Given the description of an element on the screen output the (x, y) to click on. 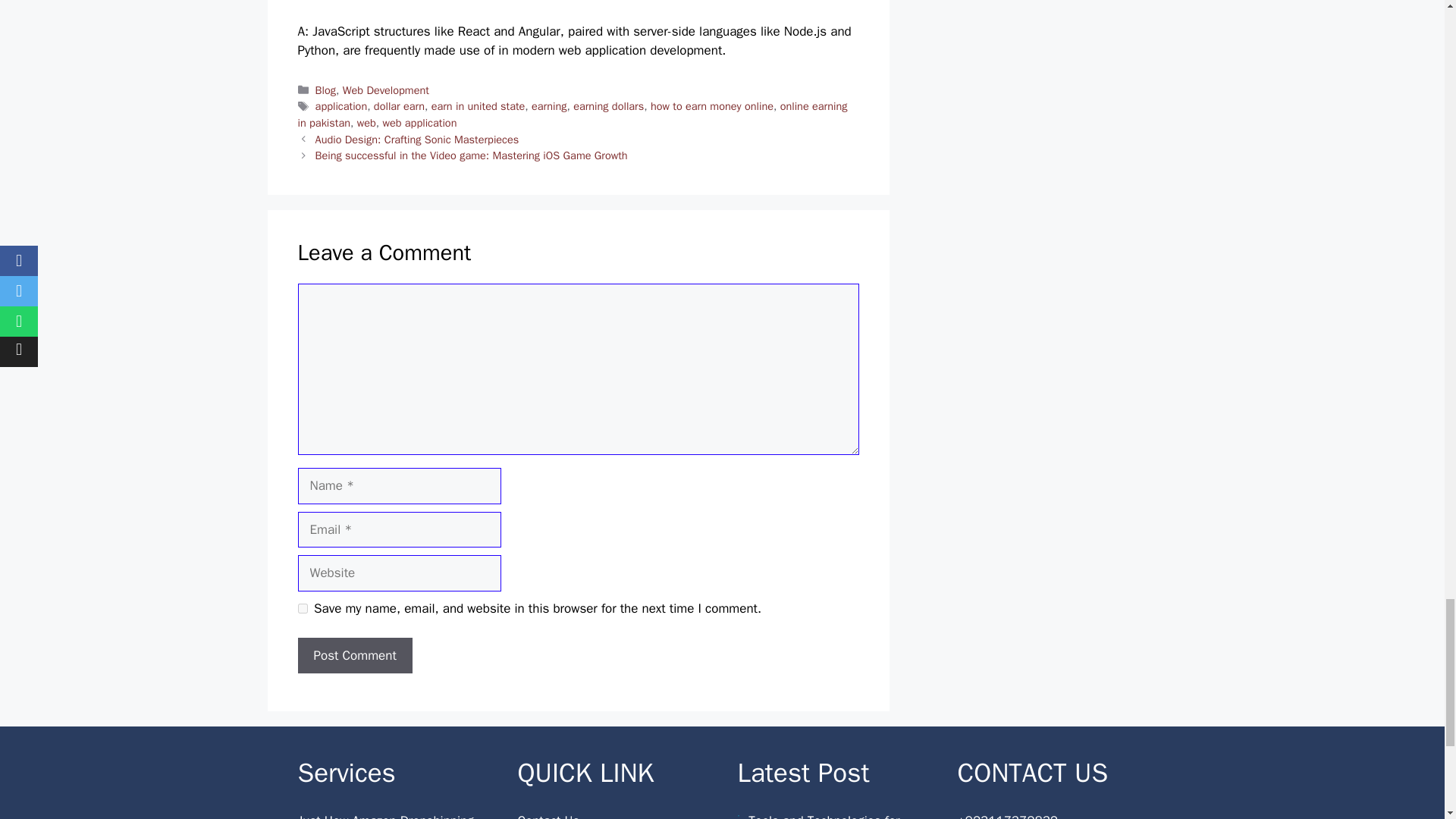
yes (302, 608)
web application (419, 122)
earning dollars (608, 106)
Blog (325, 90)
web (365, 122)
earning (548, 106)
how to earn money online (711, 106)
online earning in pakistan (572, 114)
earn in united state (477, 106)
Post Comment (354, 656)
Web Development (385, 90)
application (341, 106)
dollar earn (399, 106)
Audio Design: Crafting Sonic Masterpieces (417, 139)
